Given the description of an element on the screen output the (x, y) to click on. 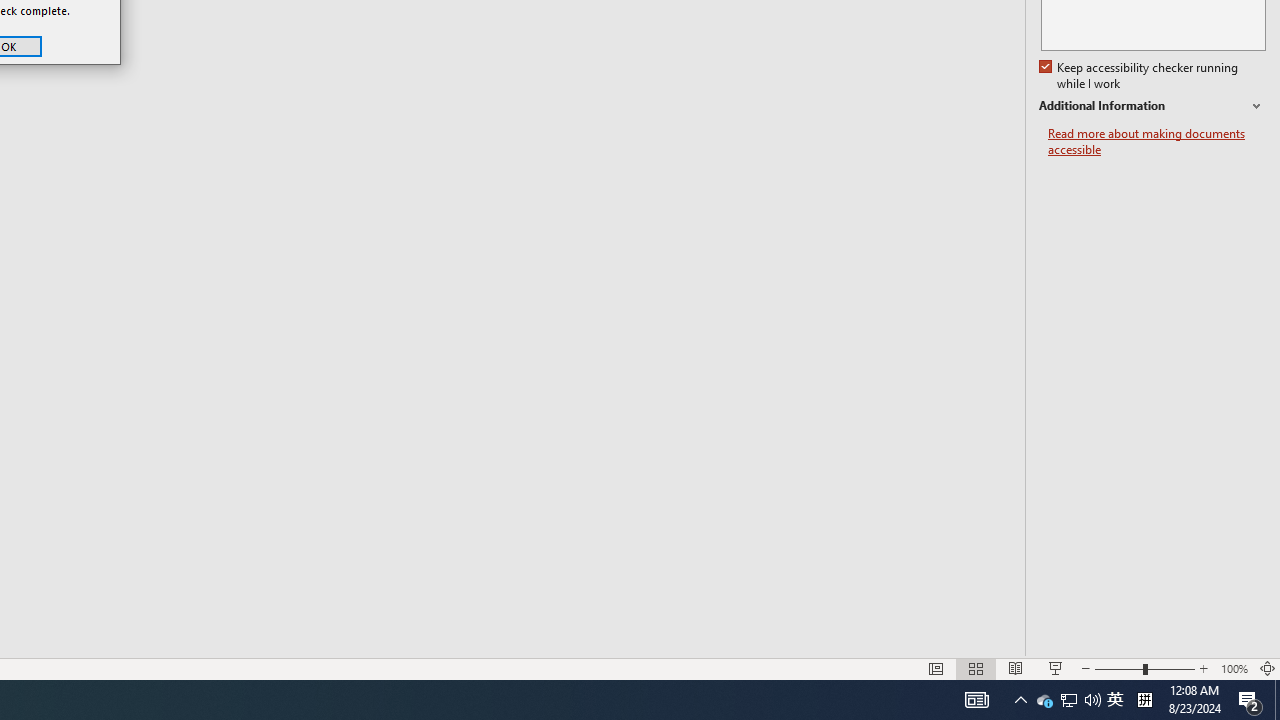
Zoom 100% (1234, 668)
